Given the description of an element on the screen output the (x, y) to click on. 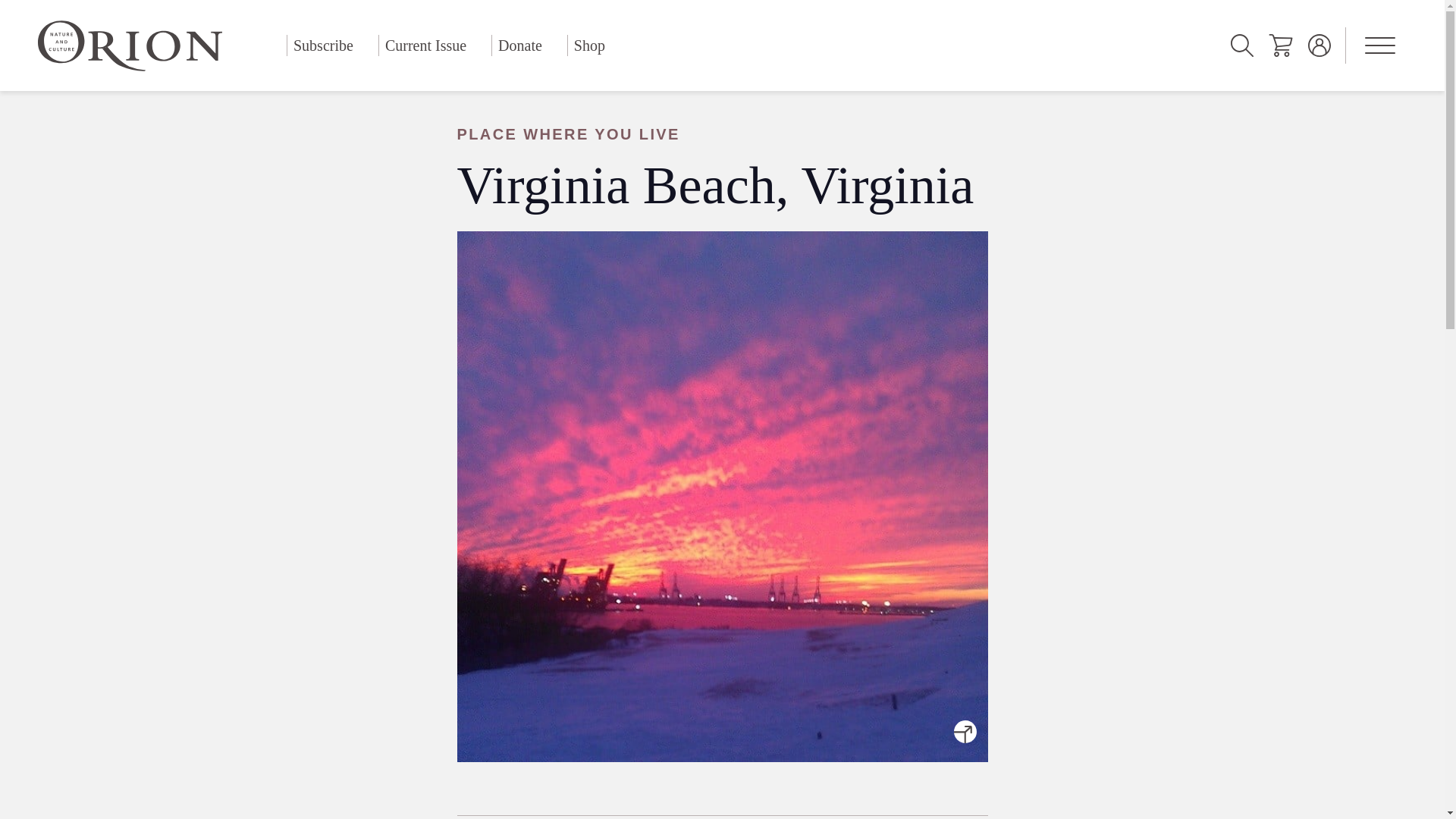
Current Issue (424, 45)
Account Dashboard (1319, 45)
Subscribe (322, 45)
Cart (1280, 45)
Shop (589, 45)
Donate (520, 45)
EXPAND IMAGE CAPTION (964, 731)
Search (1242, 45)
PLACE WHERE YOU LIVE (721, 134)
